Given the description of an element on the screen output the (x, y) to click on. 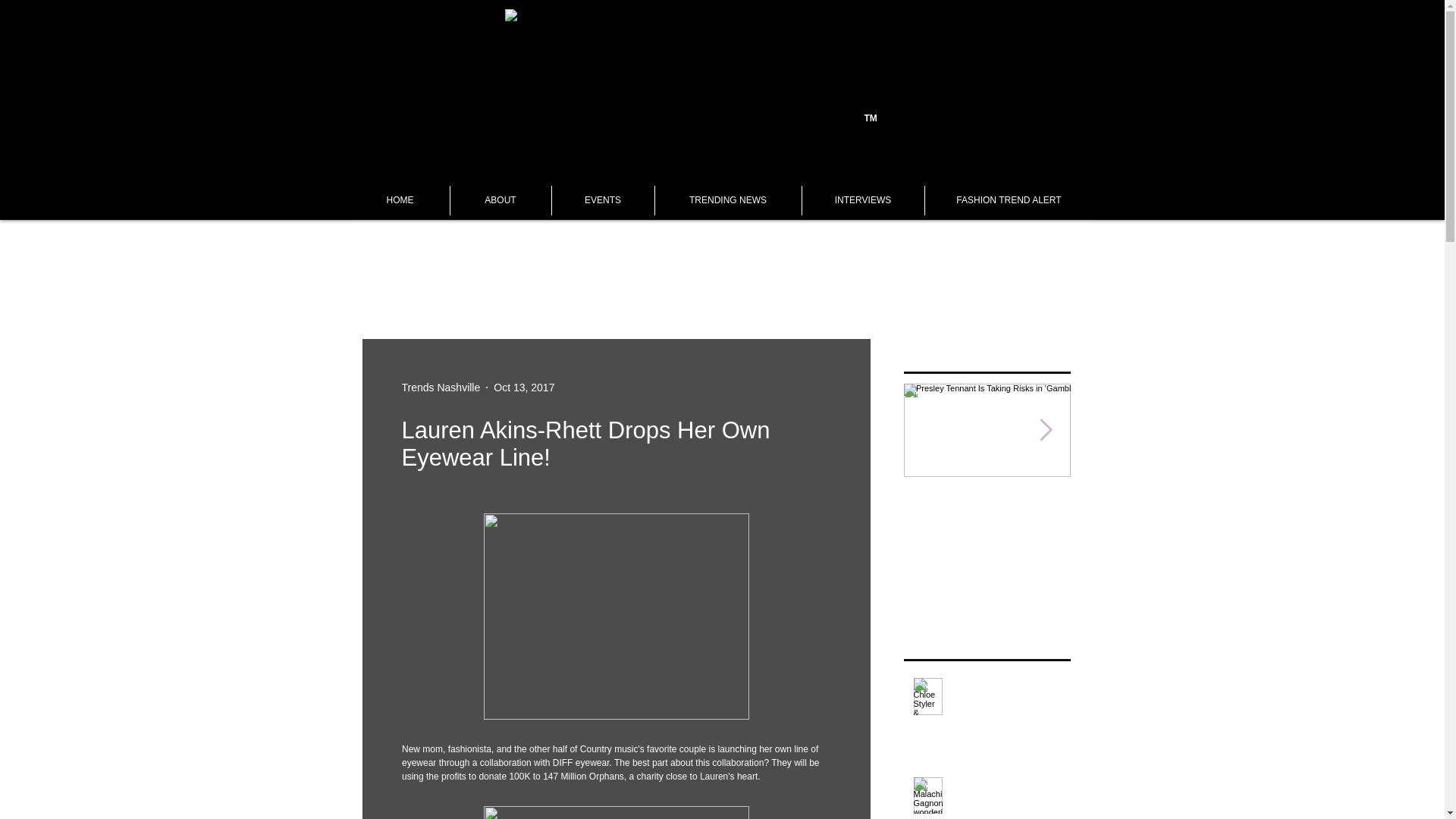
HOME (399, 200)
Malachi Gagnon's wondering do "Think About Me" (1006, 797)
TRENDING NEWS (726, 200)
ASPASIA RELEASES NEW SINGLE "THE MILLENNIAL" (1153, 526)
EVENTS (601, 200)
Oct 13, 2017 (523, 386)
FASHION TREND ALERT (1008, 200)
Trends Nashville  (440, 386)
ABOUT (499, 200)
INTERVIEWS (861, 200)
